Given the description of an element on the screen output the (x, y) to click on. 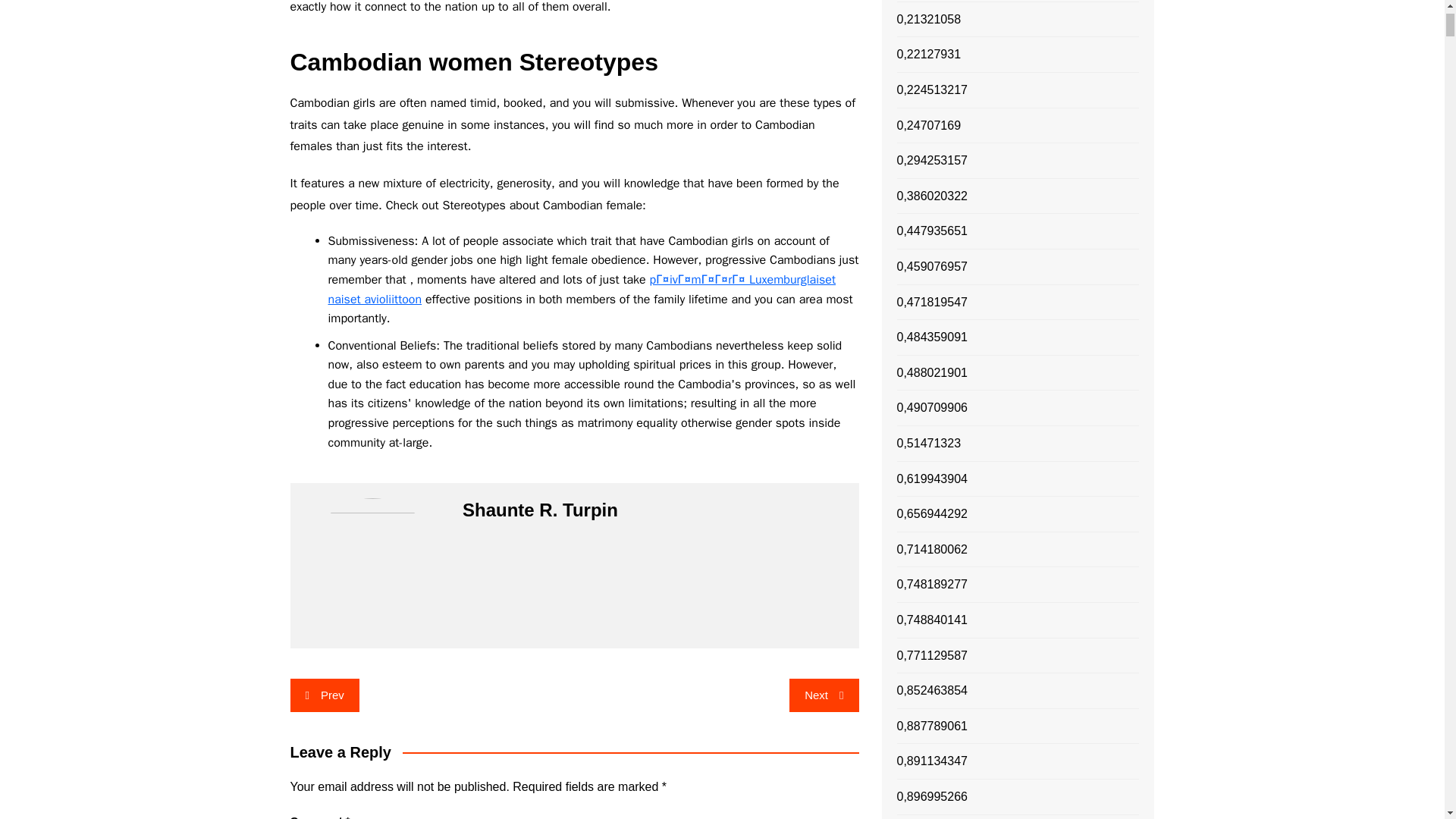
Prev (323, 694)
Next (824, 694)
0,21321058 (928, 19)
0,22127931 (928, 54)
